Given the description of an element on the screen output the (x, y) to click on. 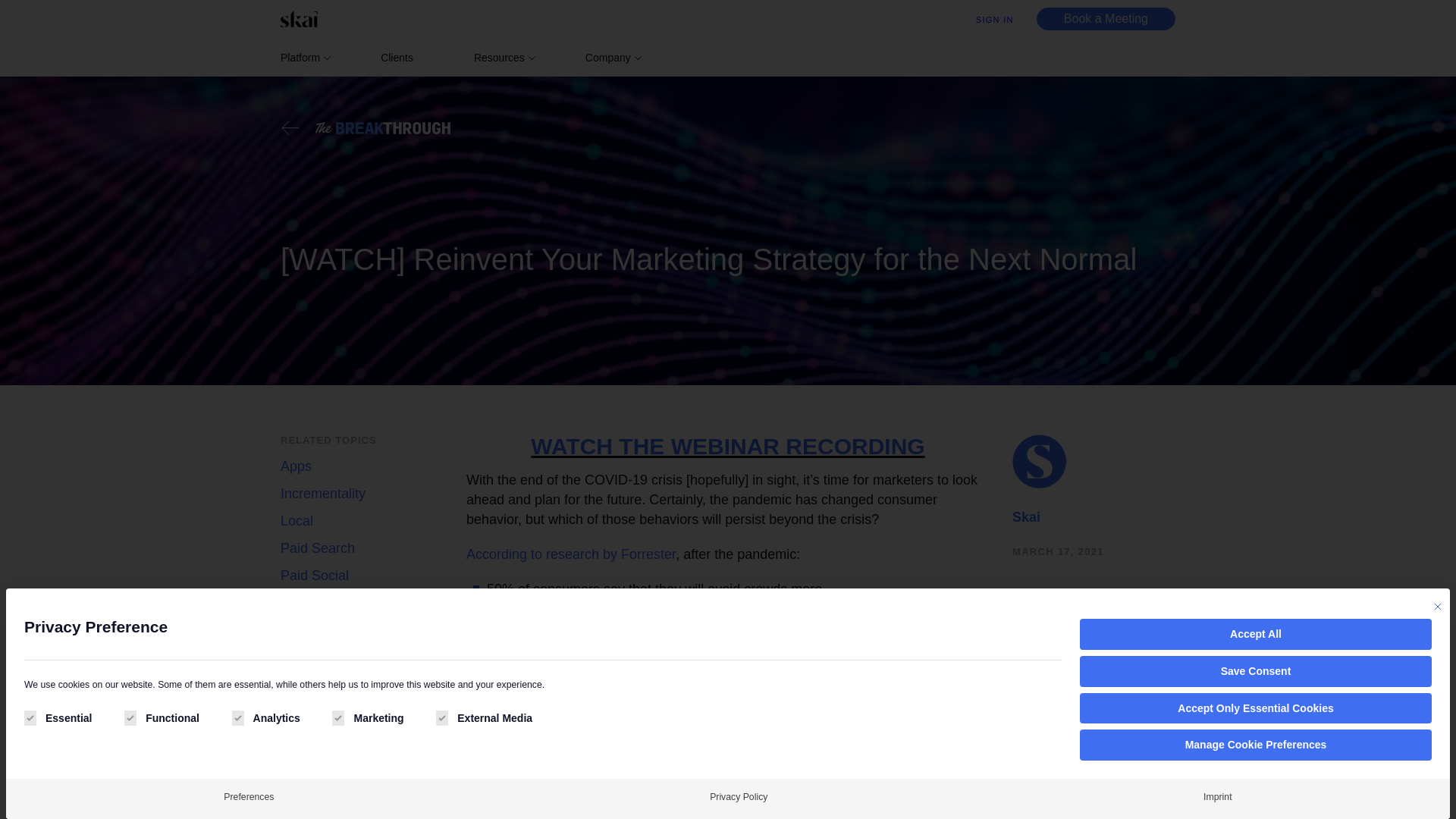
WATCH THE WEBINAR RECORDING (727, 446)
on (129, 717)
Home Page (303, 18)
on (337, 717)
on (30, 717)
Posts by Skai (1026, 516)
Skai (1026, 516)
Clients (396, 57)
Book a Meeting (1105, 18)
on (441, 717)
According to research by Forrester (570, 554)
SIGN IN (994, 19)
on (237, 717)
